Given the description of an element on the screen output the (x, y) to click on. 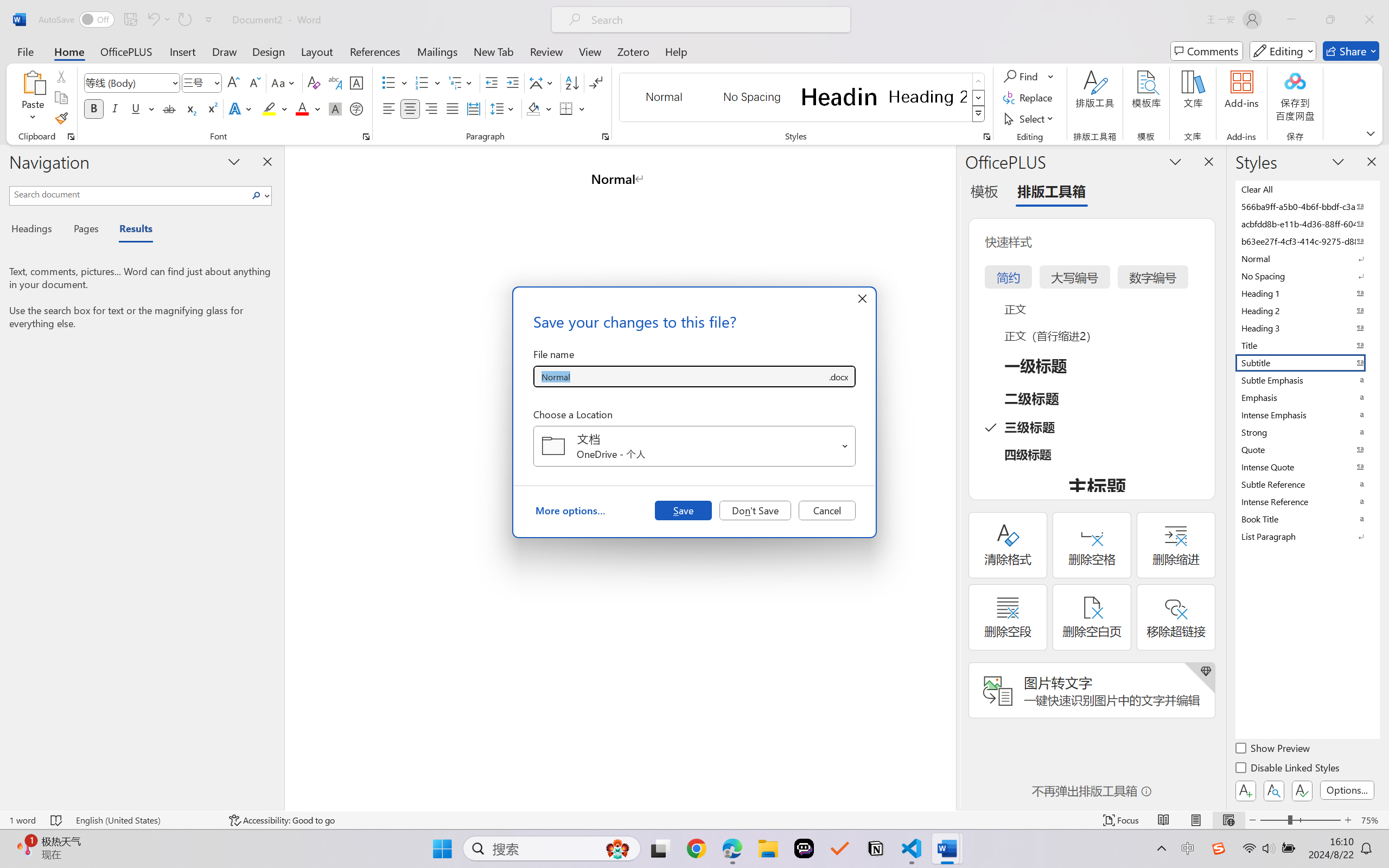
Restore Down (1330, 19)
Design (268, 51)
Format Painter (60, 118)
Heading 1 (839, 96)
Cancel (826, 509)
References (375, 51)
Accessibility Checker Accessibility: Good to go (282, 819)
AutomationID: BadgeAnchorLargeTicker (24, 847)
